Given the description of an element on the screen output the (x, y) to click on. 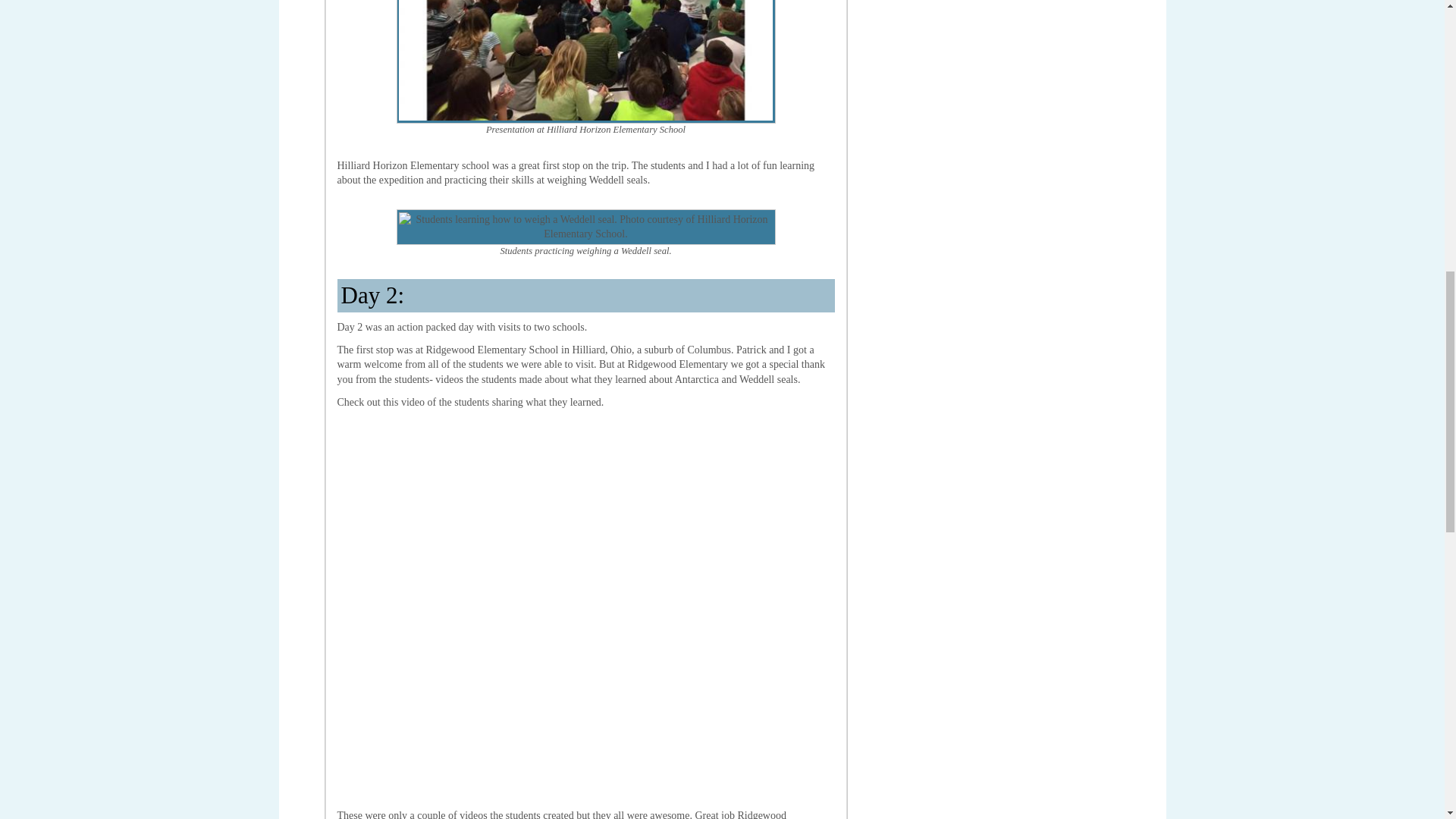
Presentation at Hilliard Horizon Elementary School (585, 61)
Students practicing weighing a Weddell seal. (585, 226)
